Given the description of an element on the screen output the (x, y) to click on. 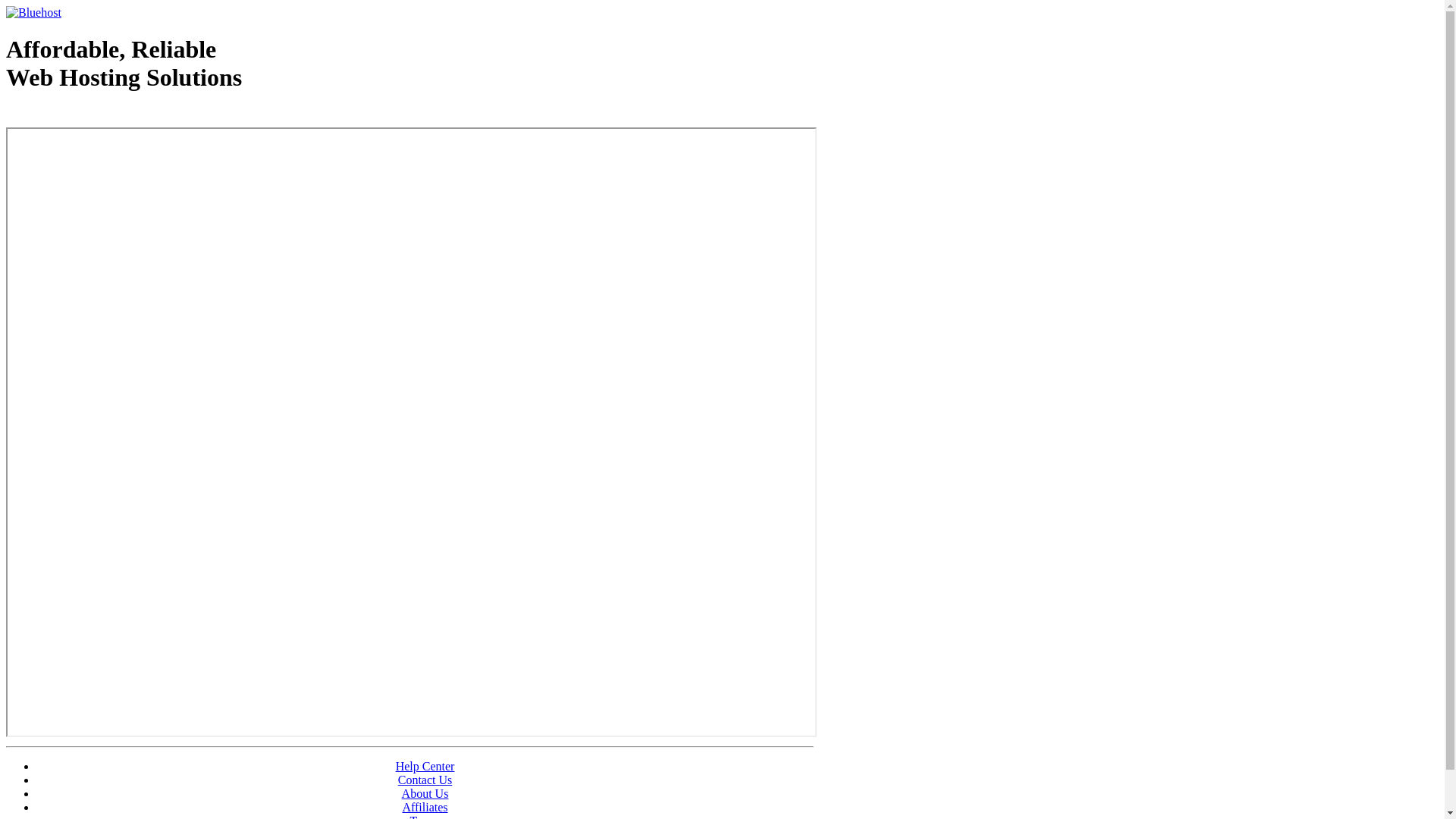
Contact Us Element type: text (425, 779)
Web Hosting - courtesy of www.bluehost.com Element type: text (94, 115)
Help Center Element type: text (425, 765)
Affiliates Element type: text (424, 806)
About Us Element type: text (424, 793)
